Given the description of an element on the screen output the (x, y) to click on. 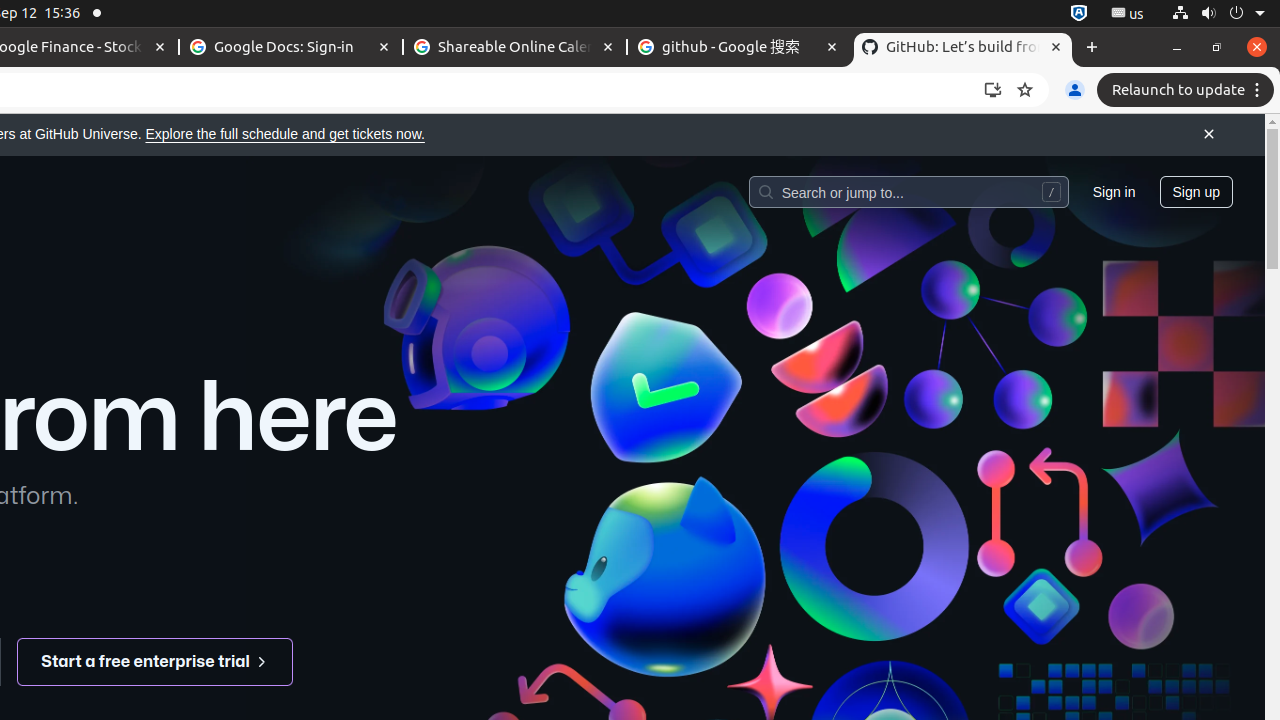
Bookmark this tab Element type: push-button (1025, 90)
Sign in Element type: link (1114, 191)
:1.21/StatusNotifierItem Element type: menu (1127, 13)
:1.72/StatusNotifierItem Element type: menu (1079, 13)
You Element type: push-button (1075, 90)
